Given the description of an element on the screen output the (x, y) to click on. 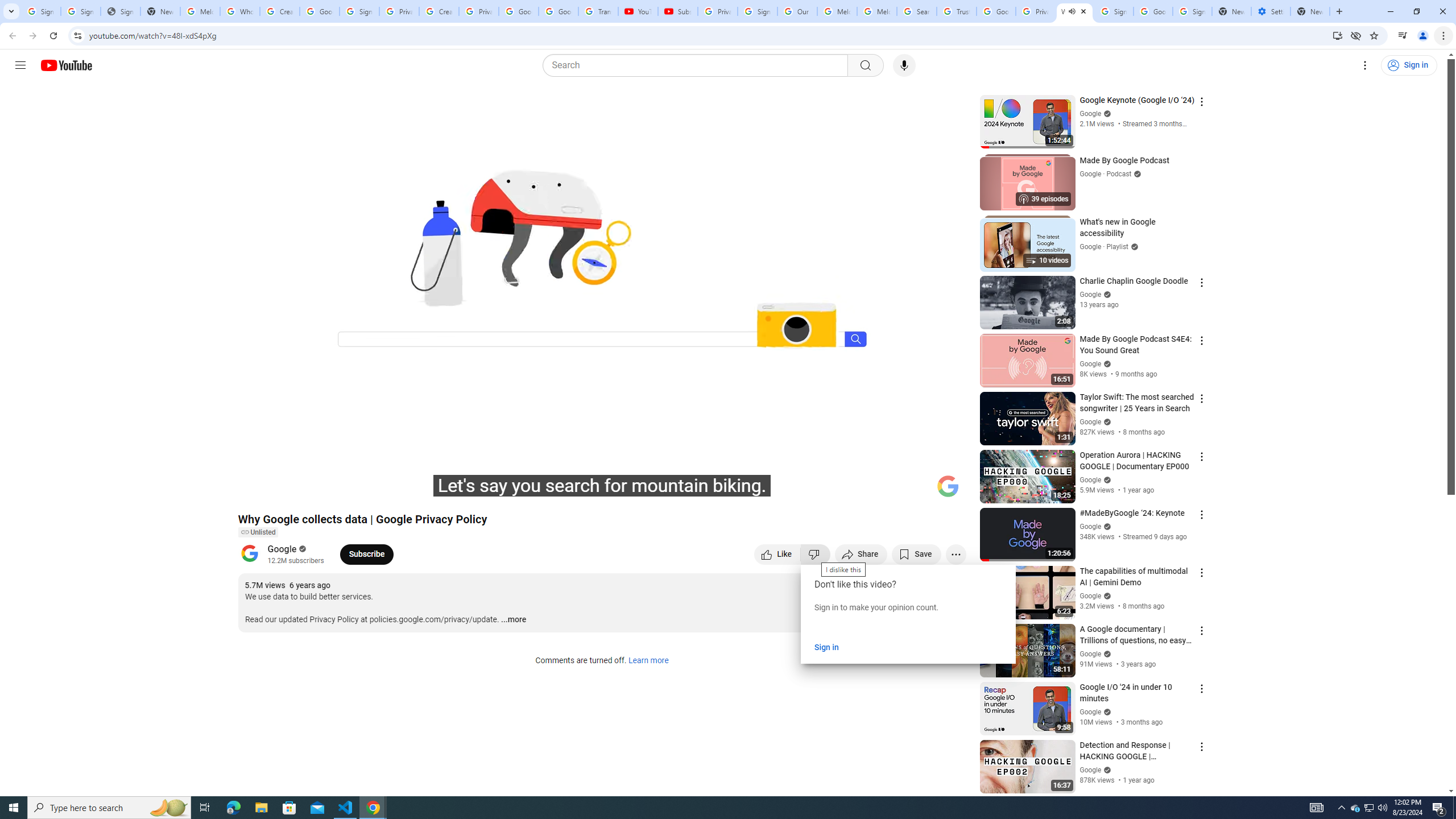
Share (861, 554)
Theater mode (t) (917, 490)
Like (777, 554)
More actions (955, 554)
Next (SHIFT+n) (284, 490)
Seek slider (601, 476)
